Given the description of an element on the screen output the (x, y) to click on. 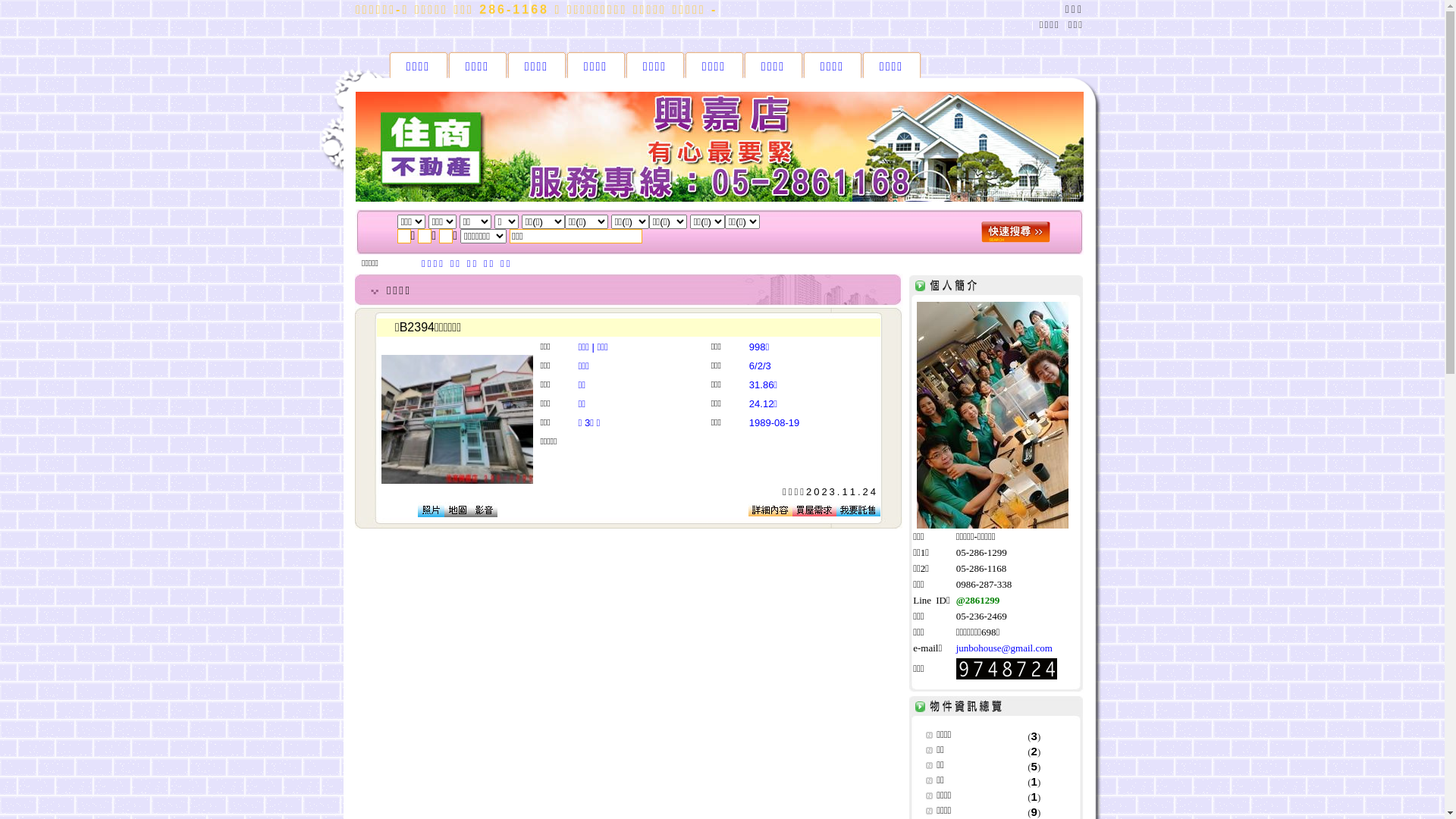
junbohouse@gmail.com Element type: text (1004, 647)
